Given the description of an element on the screen output the (x, y) to click on. 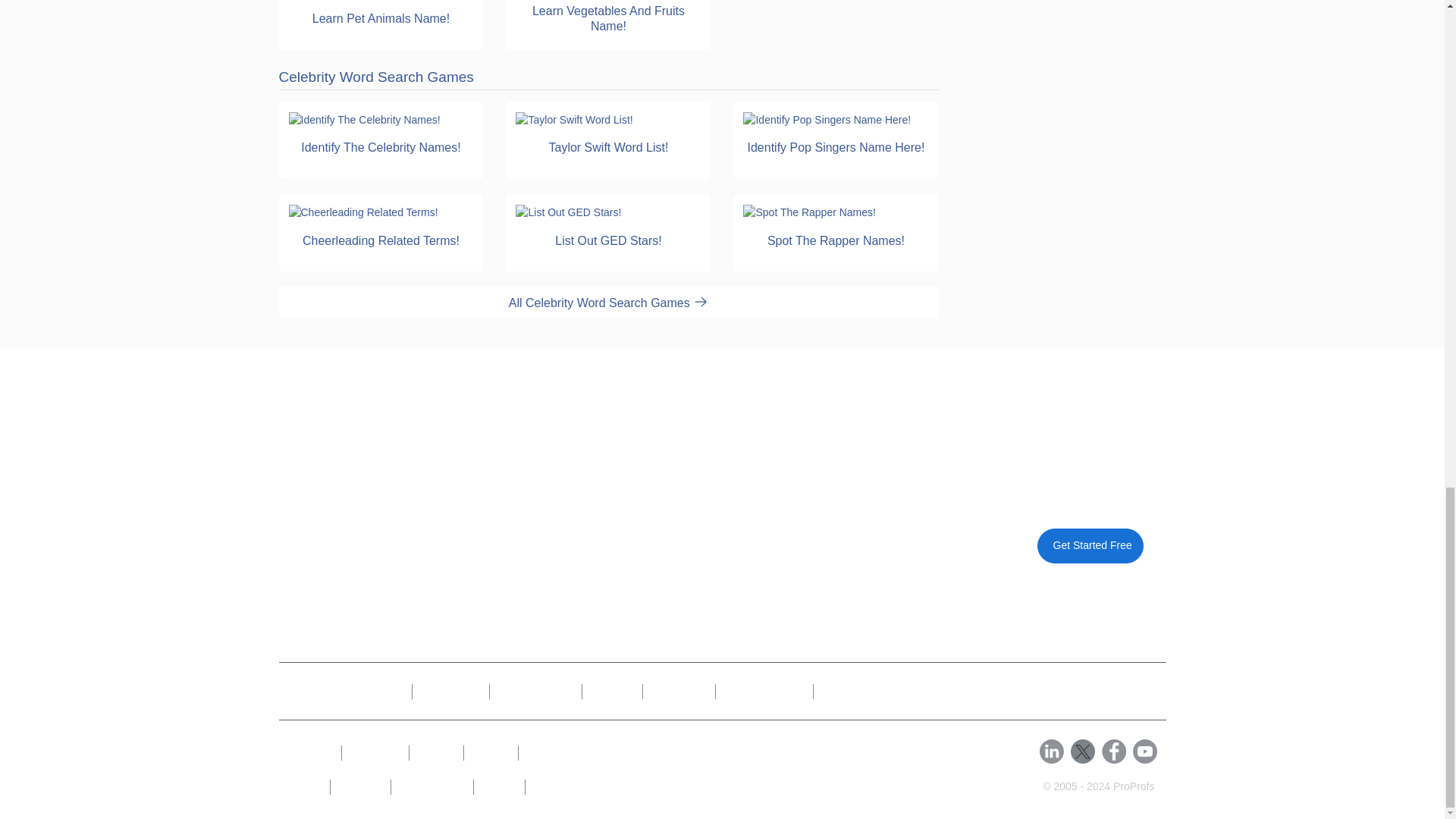
Follow us on linkedIn (1051, 751)
Follow us on facebook (1114, 751)
Follow us on Youtube (1144, 751)
